Given the description of an element on the screen output the (x, y) to click on. 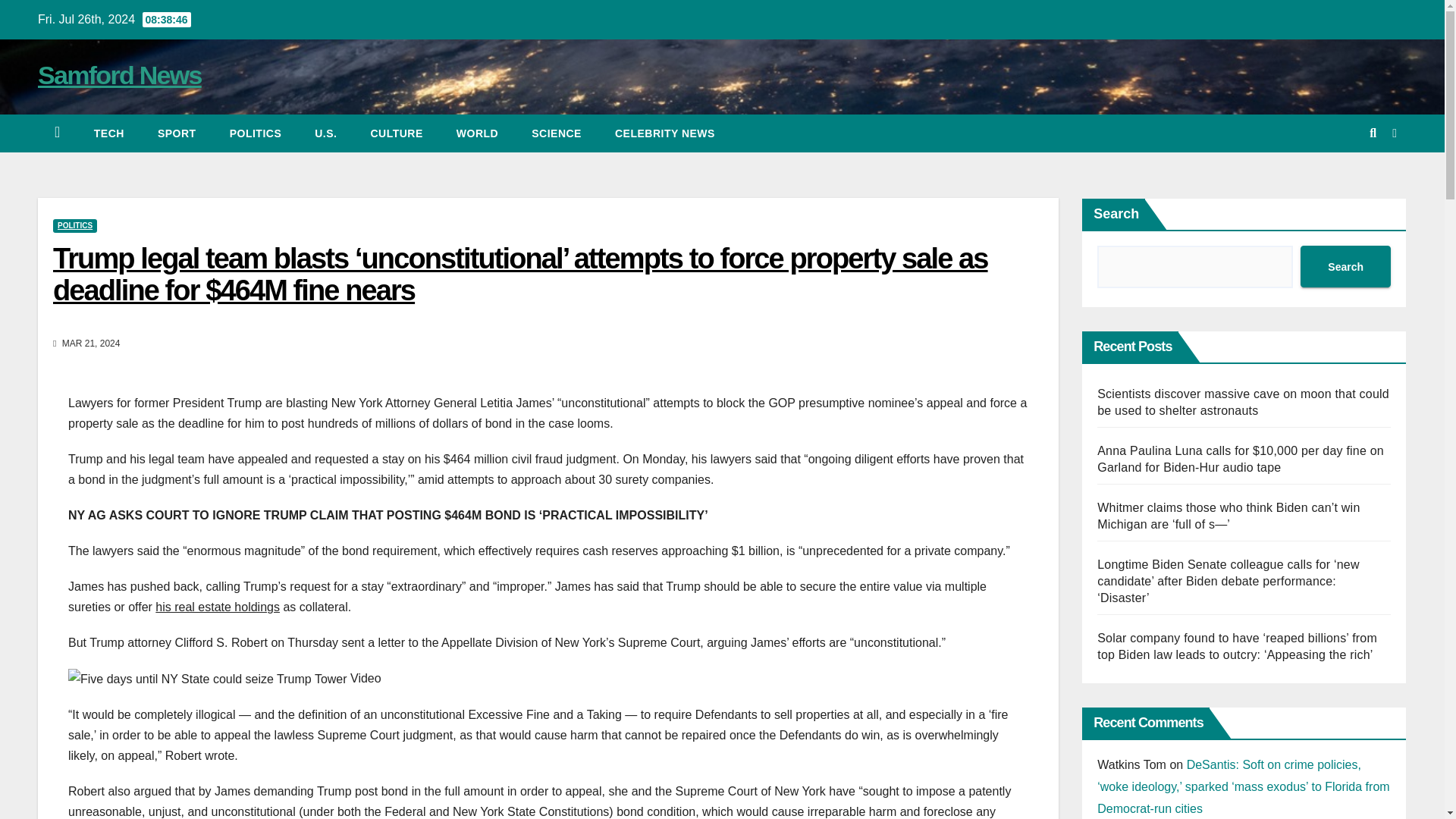
World (477, 133)
Celebrity News (665, 133)
WORLD (477, 133)
POLITICS (74, 225)
Tech (109, 133)
SCIENCE (556, 133)
Culture (396, 133)
POLITICS (255, 133)
Search (1345, 266)
SPORT (176, 133)
U.S. (325, 133)
TECH (109, 133)
CELEBRITY NEWS (665, 133)
CULTURE (396, 133)
Science (556, 133)
